Given the description of an element on the screen output the (x, y) to click on. 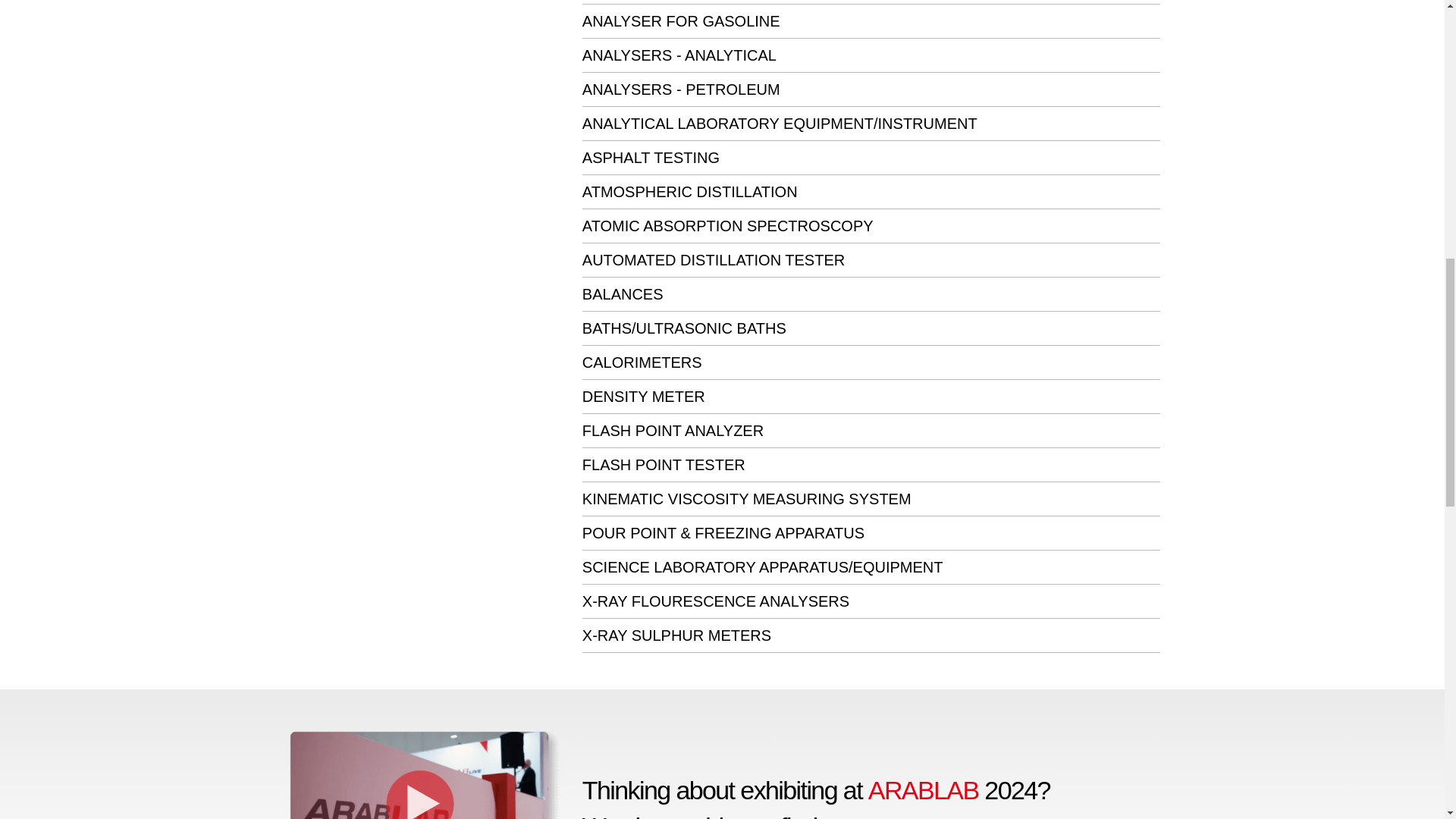
ANALYSERS - PETROLEUM (681, 89)
ANALYSER FOR GASOLINE (681, 21)
ANALYSERS - ANALYTICAL (679, 54)
ATMOSPHERIC DISTILLATION (689, 191)
ASPHALT TESTING (650, 157)
